Given the description of an element on the screen output the (x, y) to click on. 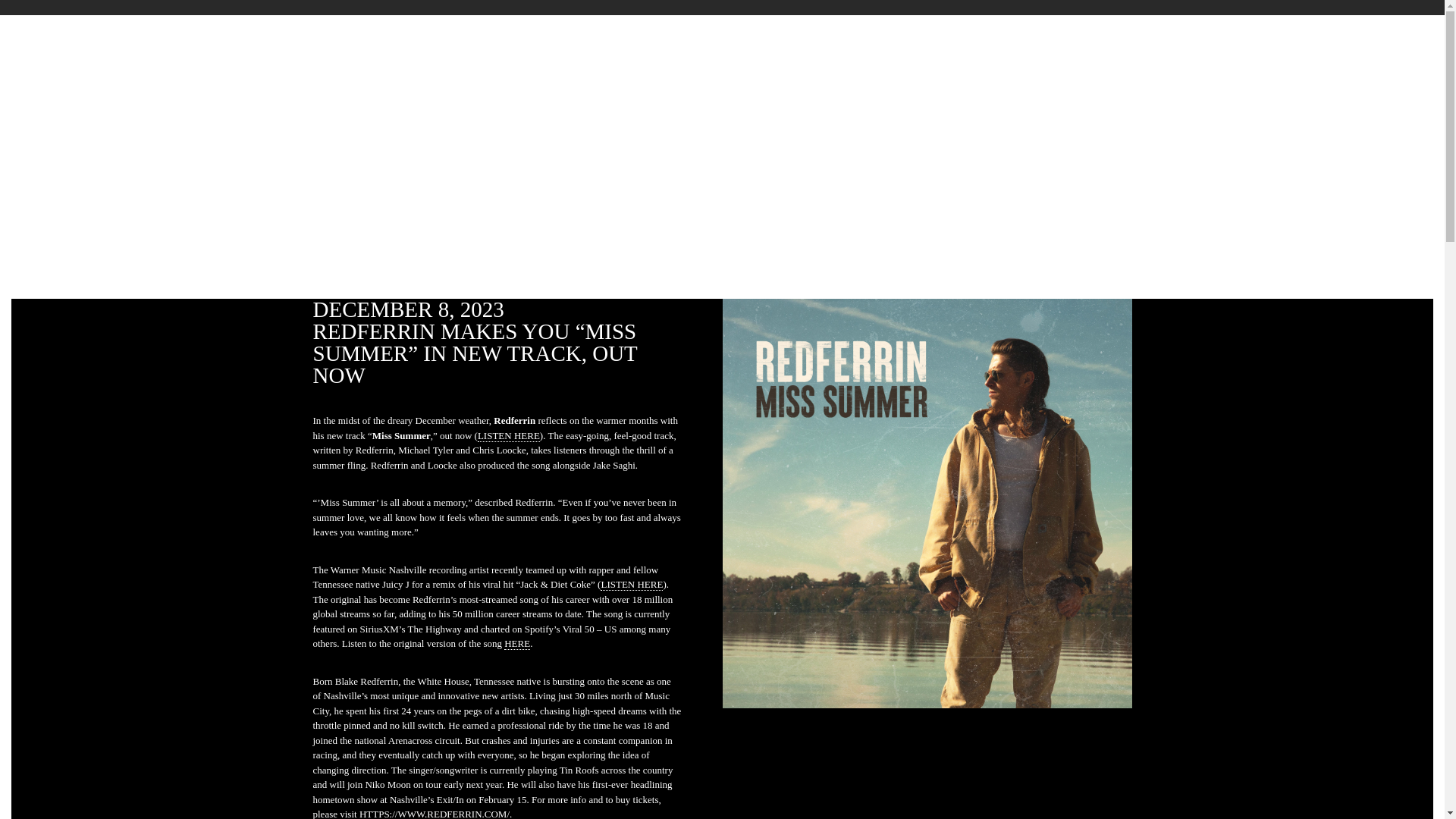
HERE (516, 644)
LISTEN HERE (508, 435)
LISTEN HERE (630, 584)
Skip to main content (722, 16)
